Given the description of an element on the screen output the (x, y) to click on. 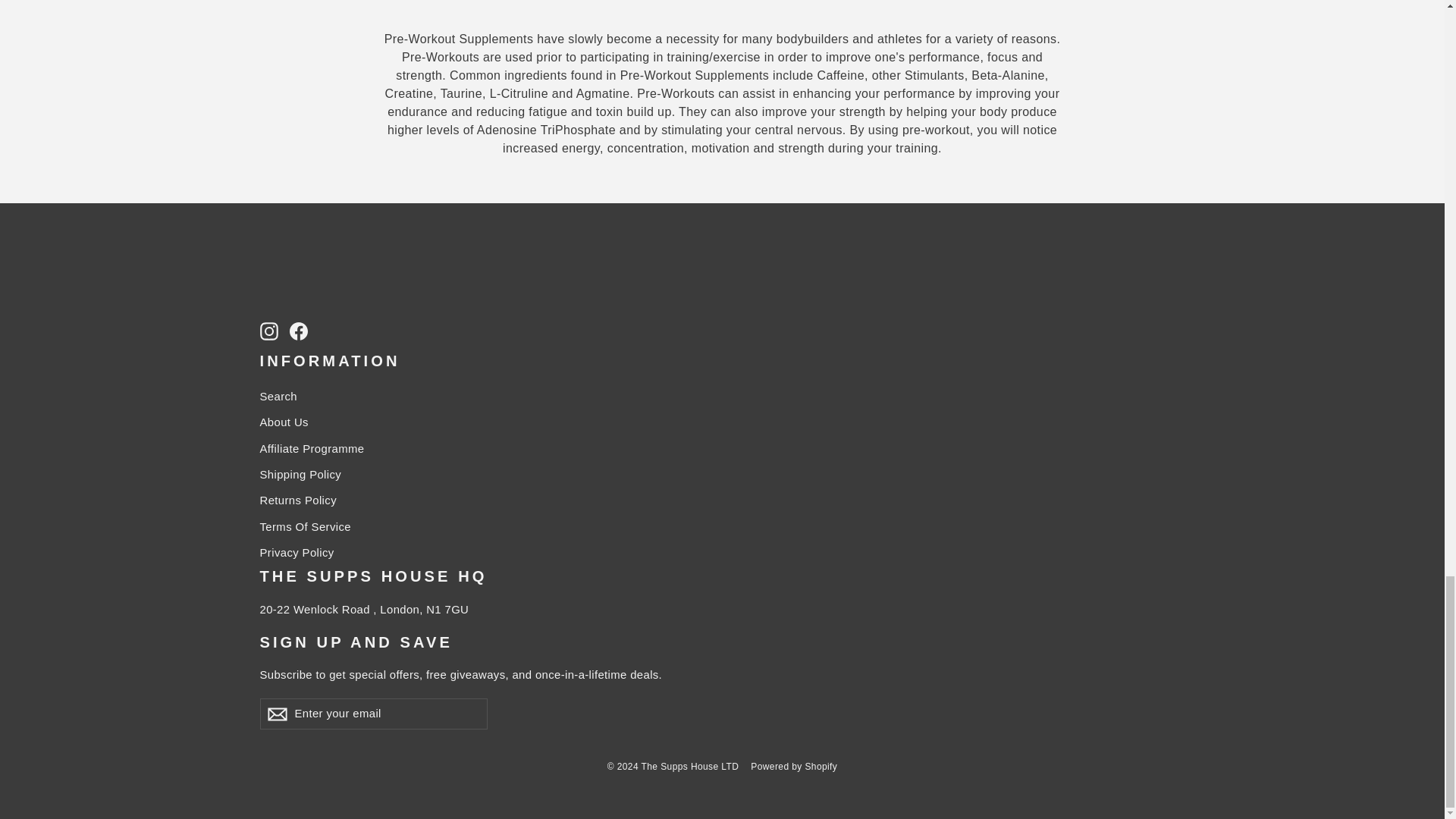
icon-email (276, 714)
instagram (268, 331)
The Supps House LTD  on Instagram (268, 330)
The Supps House LTD  on Facebook (298, 330)
